Given the description of an element on the screen output the (x, y) to click on. 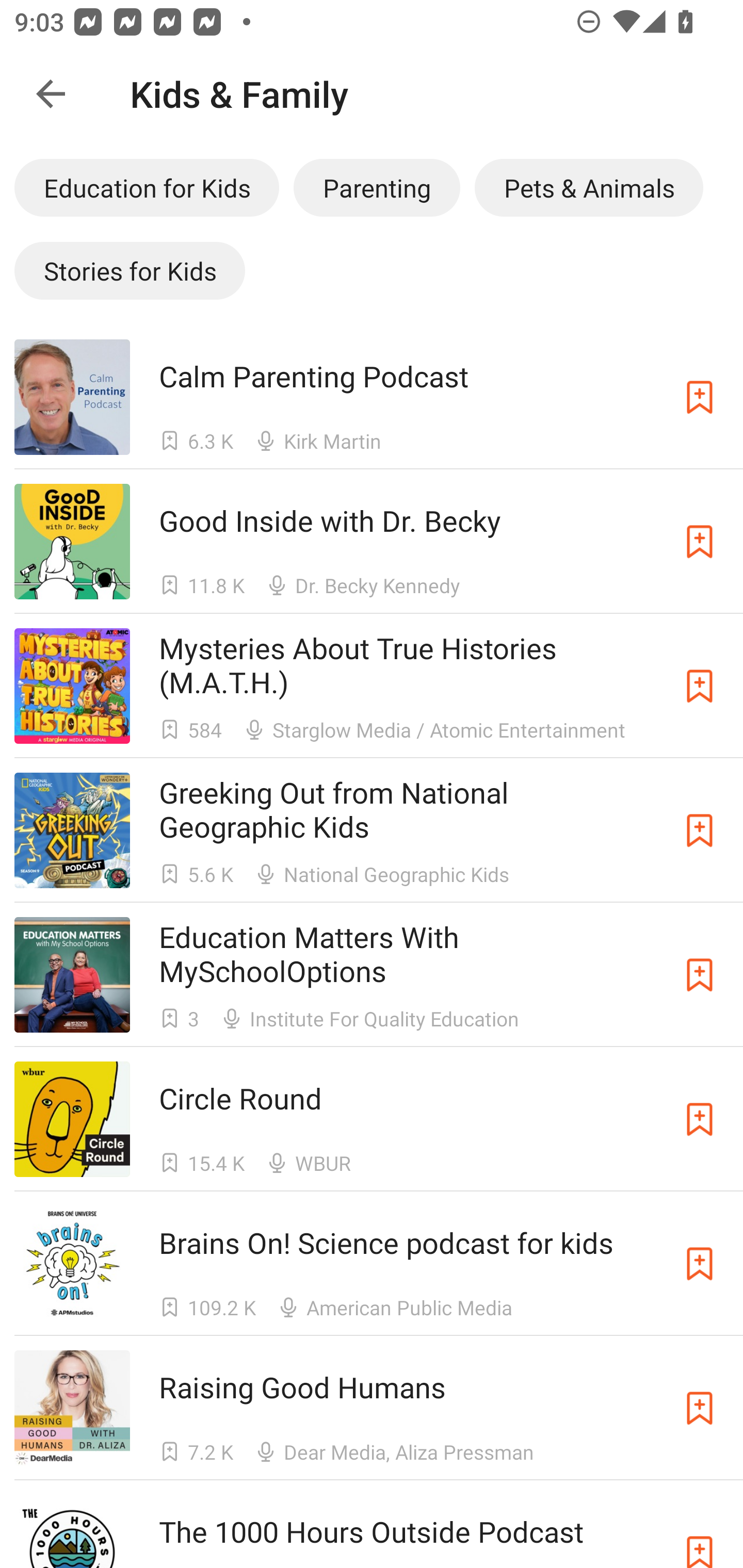
Navigate up (50, 93)
Education for Kids (146, 187)
Parenting (376, 187)
Pets & Animals (588, 187)
Stories for Kids (129, 270)
Subscribe (699, 396)
Subscribe (699, 541)
Subscribe (699, 685)
Subscribe (699, 830)
Subscribe (699, 975)
Subscribe (699, 1119)
Subscribe (699, 1263)
Subscribe (699, 1408)
Subscribe (699, 1531)
